Given the description of an element on the screen output the (x, y) to click on. 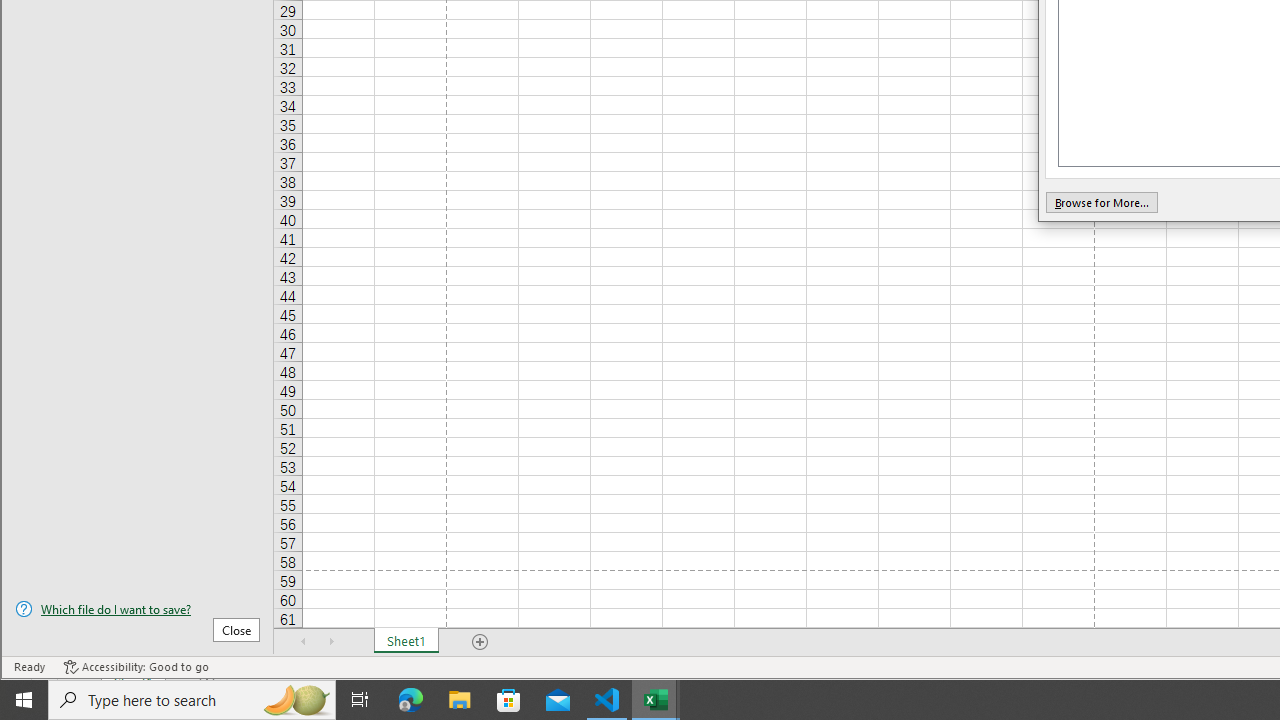
Browse for More... (1101, 201)
Excel - 2 running windows (656, 699)
